Given the description of an element on the screen output the (x, y) to click on. 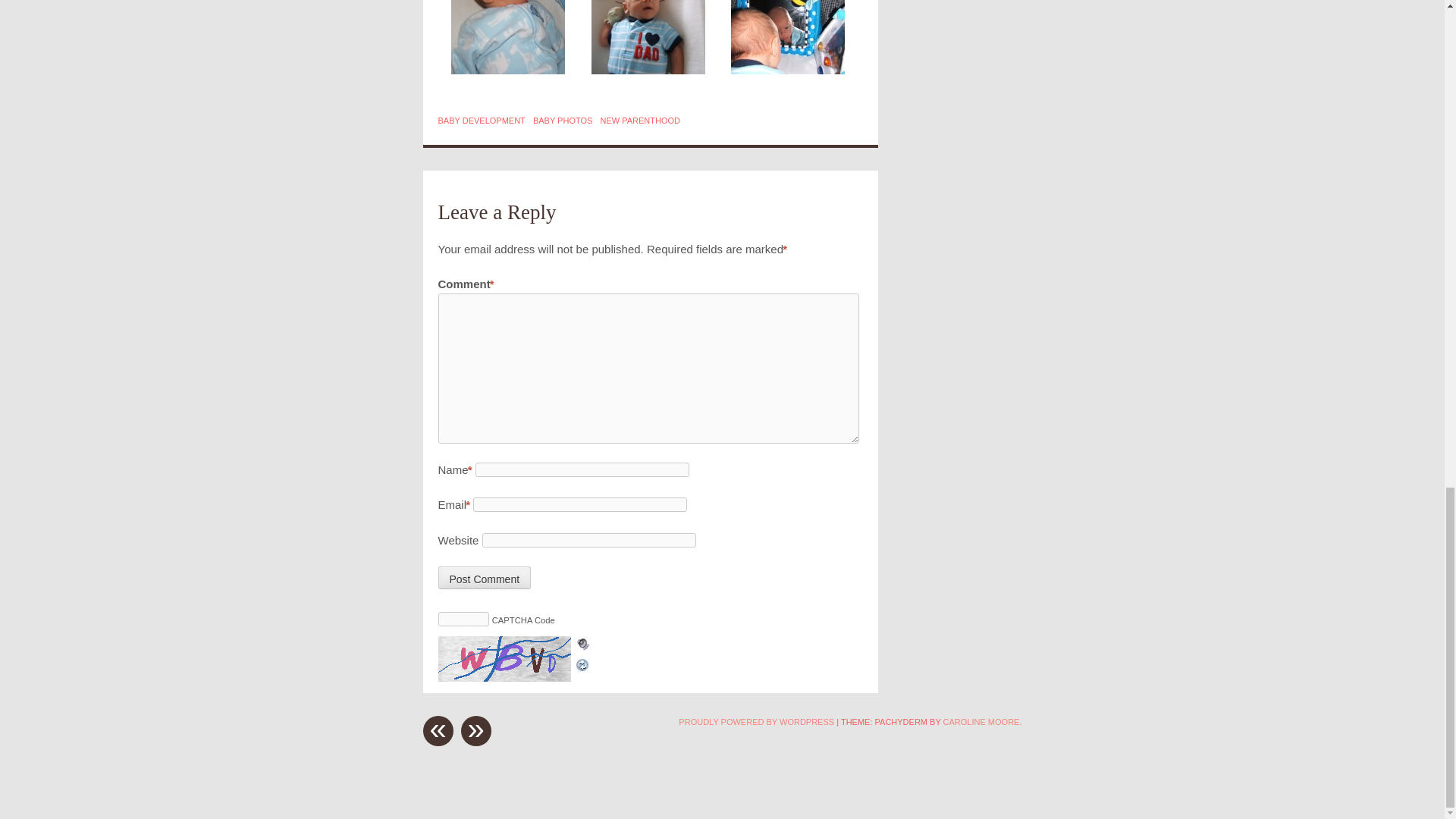
Post Comment (484, 577)
CAPTCHA Audio (583, 644)
CAPTCHA Image (506, 658)
NEW PARENTHOOD (639, 120)
PROUDLY POWERED BY WORDPRESS (756, 721)
BABY PHOTOS (562, 120)
BABY DEVELOPMENT (481, 120)
A Semantic Personal Publishing Platform (756, 721)
Post Comment (484, 577)
Refresh Image (583, 662)
